Given the description of an element on the screen output the (x, y) to click on. 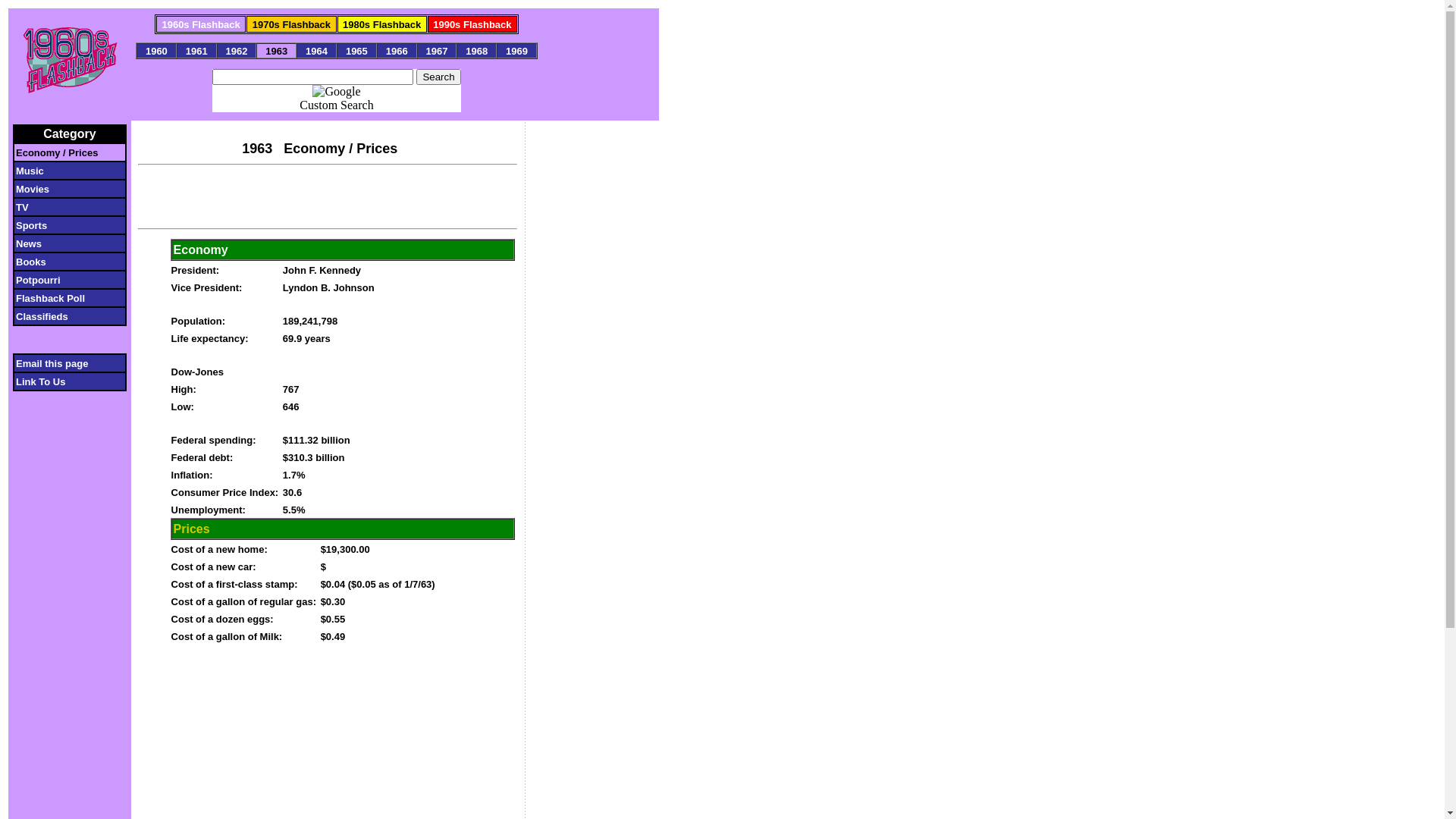
Advertisement Element type: hover (591, 392)
Link To Us                 Element type: text (62, 380)
1990s Flashback Element type: text (472, 23)
Potpourri                  Element type: text (60, 279)
News                            Element type: text (65, 242)
Music                          Element type: text (63, 169)
1980s Flashback Element type: text (381, 23)
1970s Flashback Element type: text (291, 23)
 1968  Element type: text (476, 49)
 1962  Element type: text (236, 49)
 1964  Element type: text (316, 49)
Books                          Element type: text (64, 260)
 1961  Element type: text (196, 49)
 1965  Element type: text (356, 49)
 1960  Element type: text (155, 49)
Advertisement Element type: hover (327, 194)
 1966  Element type: text (396, 49)
TV                                Element type: text (64, 206)
Email this page       Element type: text (59, 362)
Flashback Poll         Element type: text (60, 297)
Sports                        Element type: text (62, 224)
Search Element type: text (438, 76)
 1969  Element type: text (516, 49)
 1967  Element type: text (436, 49)
Classifieds               Element type: text (60, 315)
Movies                        Element type: text (63, 188)
